Given the description of an element on the screen output the (x, y) to click on. 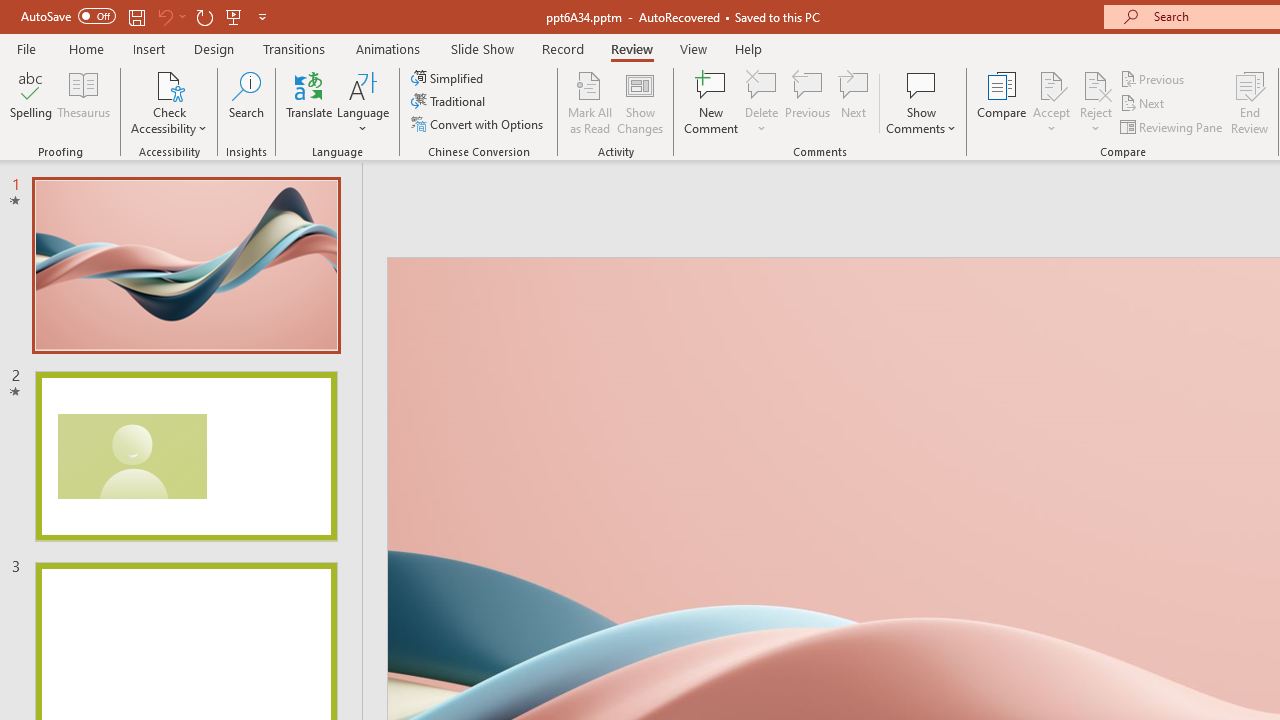
Reject Change (1096, 84)
Previous (1153, 78)
Accept Change (1051, 84)
Compare (1002, 102)
Mark All as Read (589, 102)
Next (1144, 103)
